Given the description of an element on the screen output the (x, y) to click on. 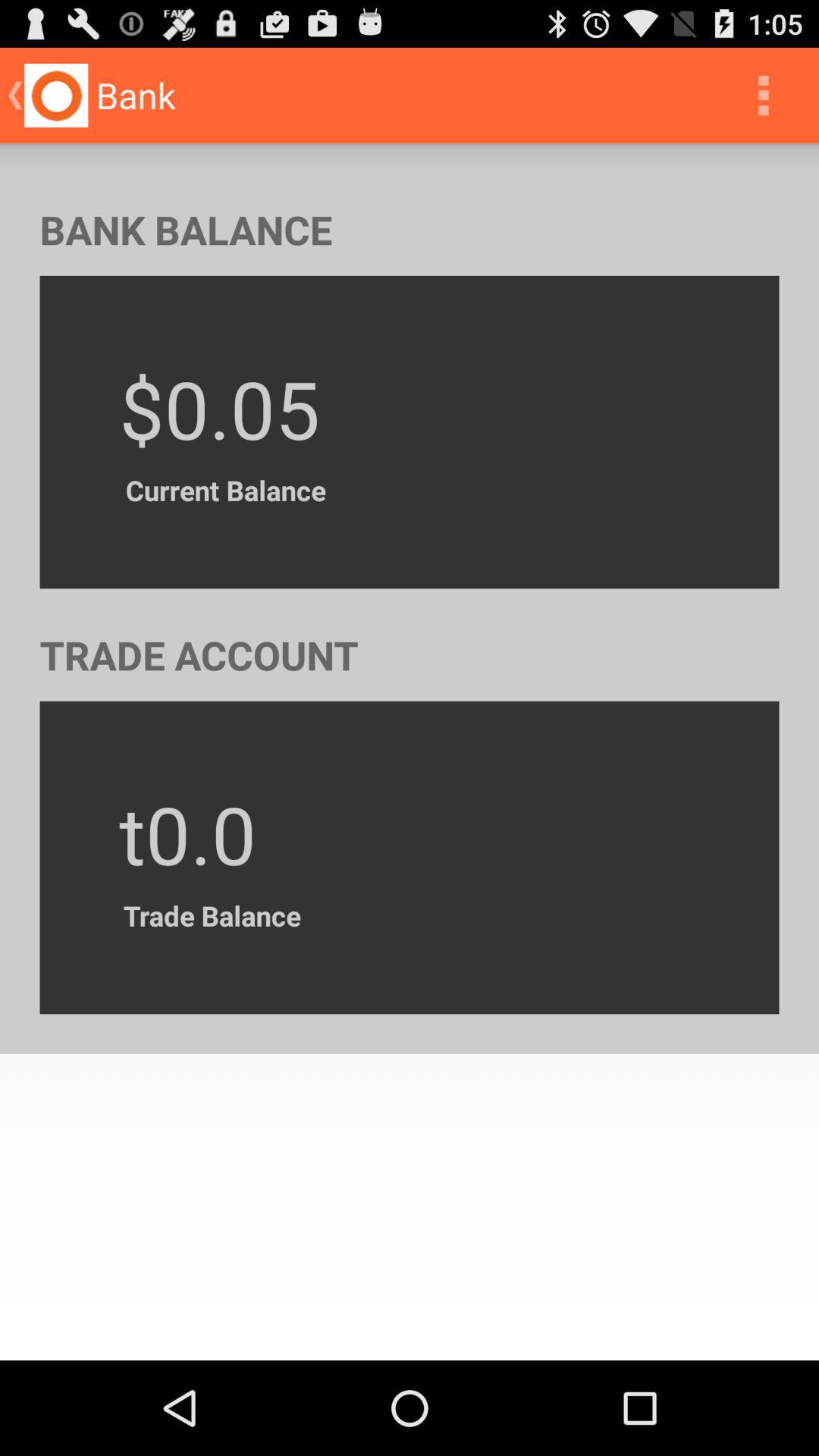
choose the icon at the top right corner (763, 95)
